Given the description of an element on the screen output the (x, y) to click on. 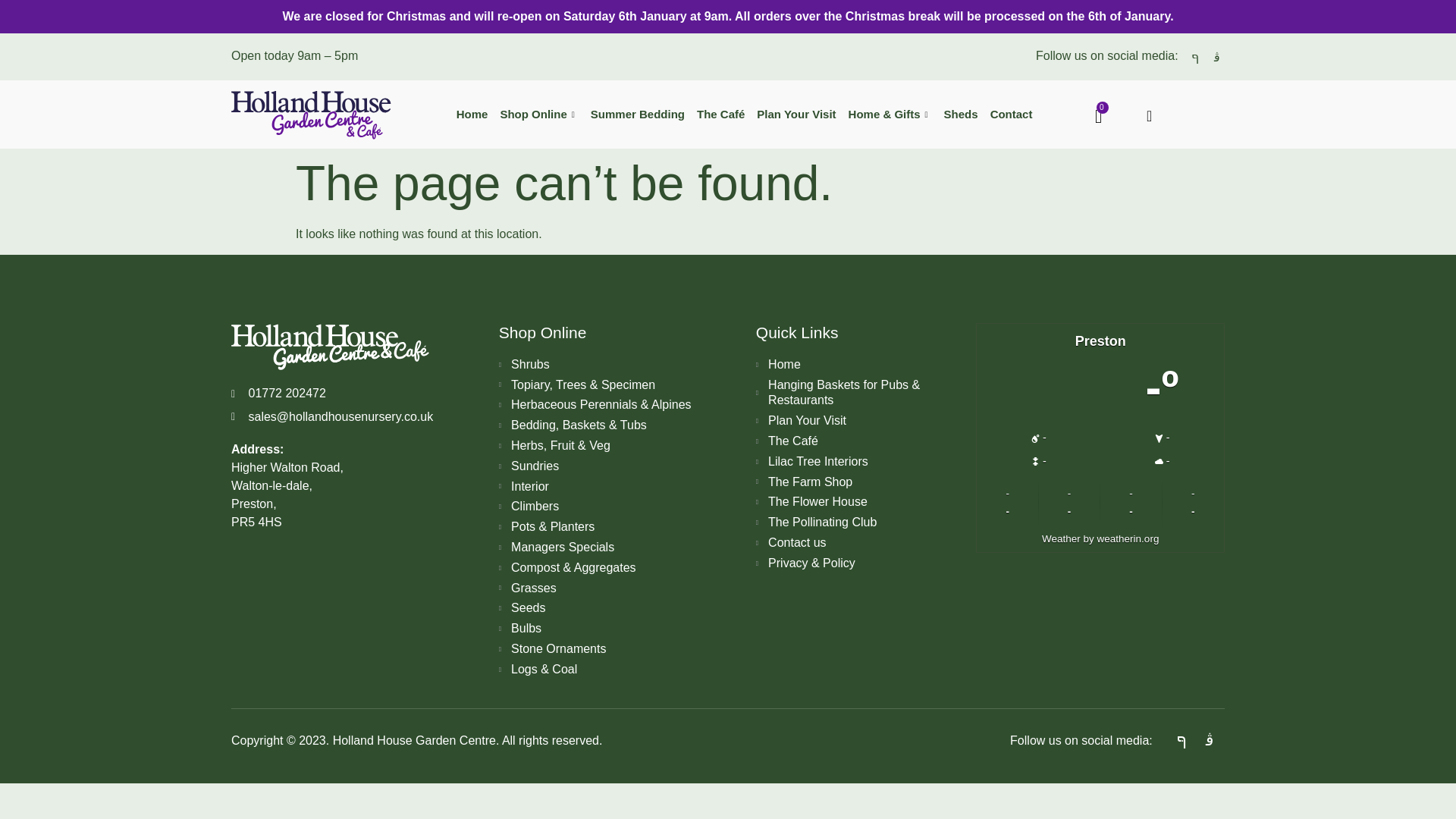
Shop Online (538, 114)
Home (472, 114)
